Given the description of an element on the screen output the (x, y) to click on. 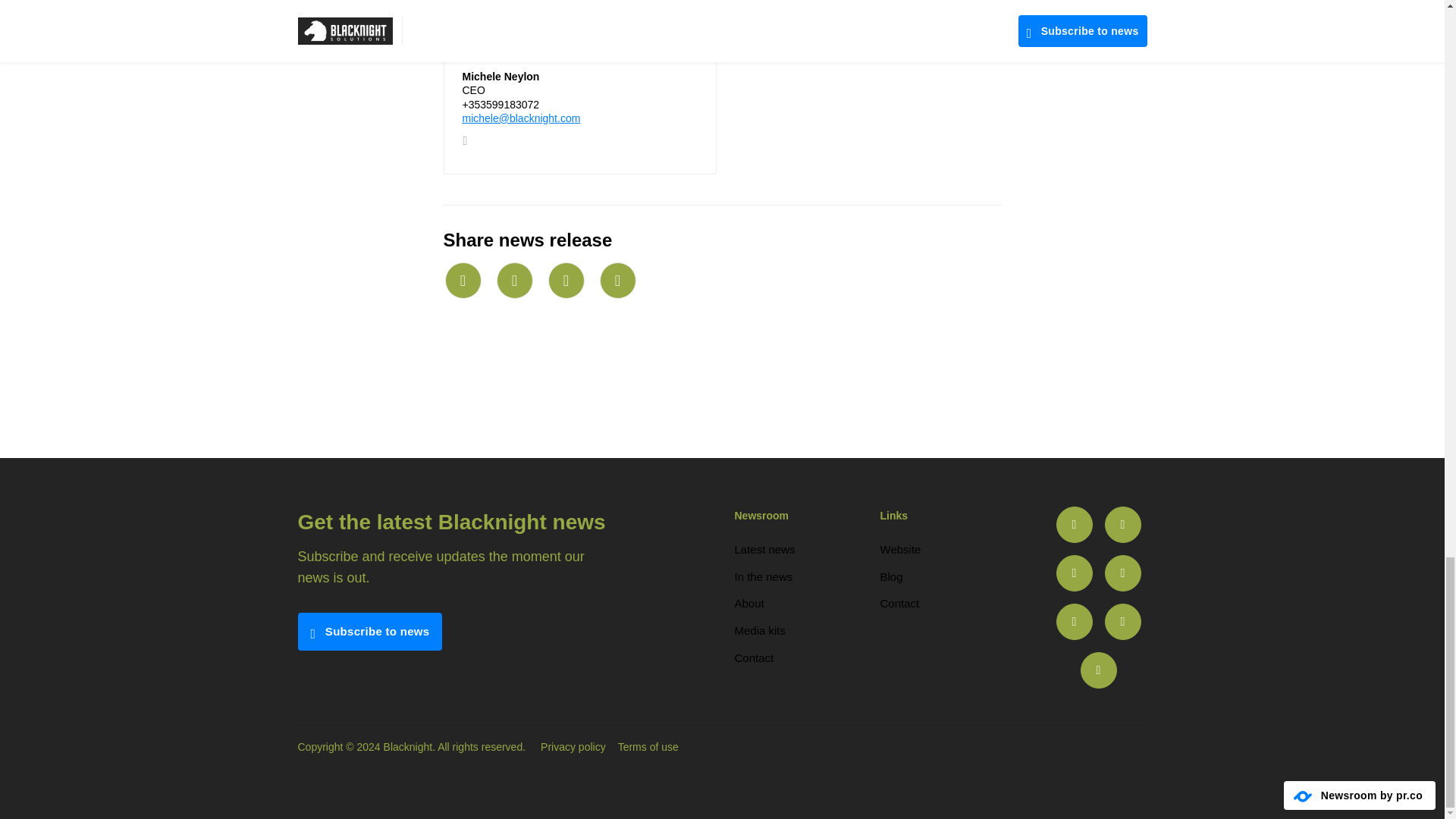
Contact (753, 657)
Share this page on Facebook (616, 280)
Newsroom powered by pr.co Newsroom by pr.co (1359, 795)
About (747, 603)
Privacy policy (572, 746)
Newsroom powered by pr.co (1359, 795)
In the news (762, 576)
Terms of use (647, 746)
Latest news (763, 549)
Subscribe to news (369, 631)
Share this page on Twitter (514, 280)
Contact (898, 603)
Newsroom powered by pr.co (1302, 796)
Website (899, 549)
Share this page on Linkedin (565, 280)
